Given the description of an element on the screen output the (x, y) to click on. 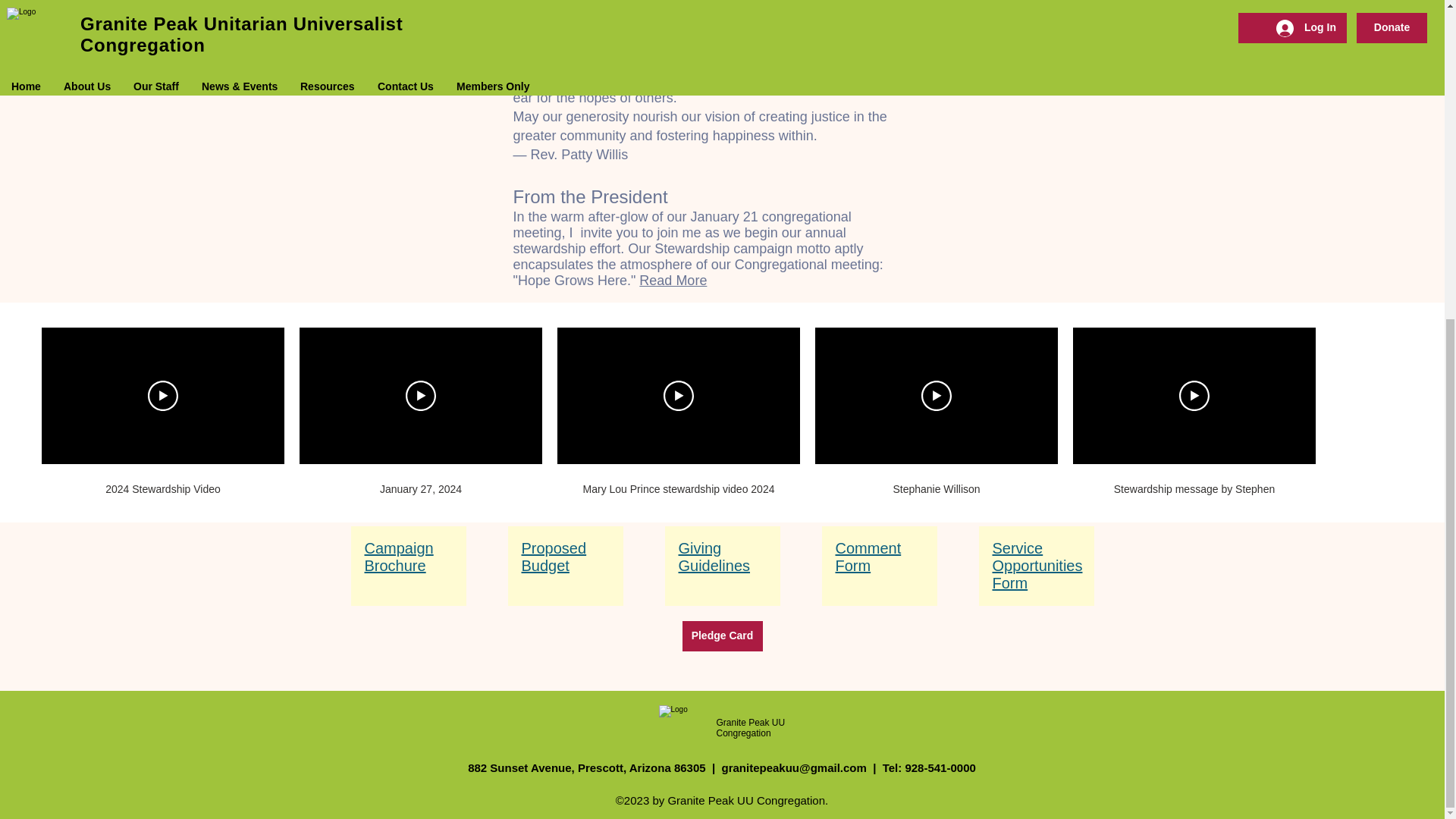
Stewardship message by Stephen (1193, 489)
Comment Form (868, 556)
Stephanie Willison (935, 489)
Campaign Brochure (398, 556)
Stephanie Willison (936, 480)
Service Opportunities Form (1036, 565)
Giving Guidelines (713, 556)
Pledge Card (722, 635)
Proposed Budget (553, 556)
Stewardship message by Stephen (1194, 480)
January 27, 2024 (420, 480)
Mary Lou Prince stewardship video 2024 (678, 480)
2024 Stewardship Video (162, 489)
Mary Lou Prince stewardship video 2024 (678, 489)
2024 Stewardship Video (162, 480)
